Given the description of an element on the screen output the (x, y) to click on. 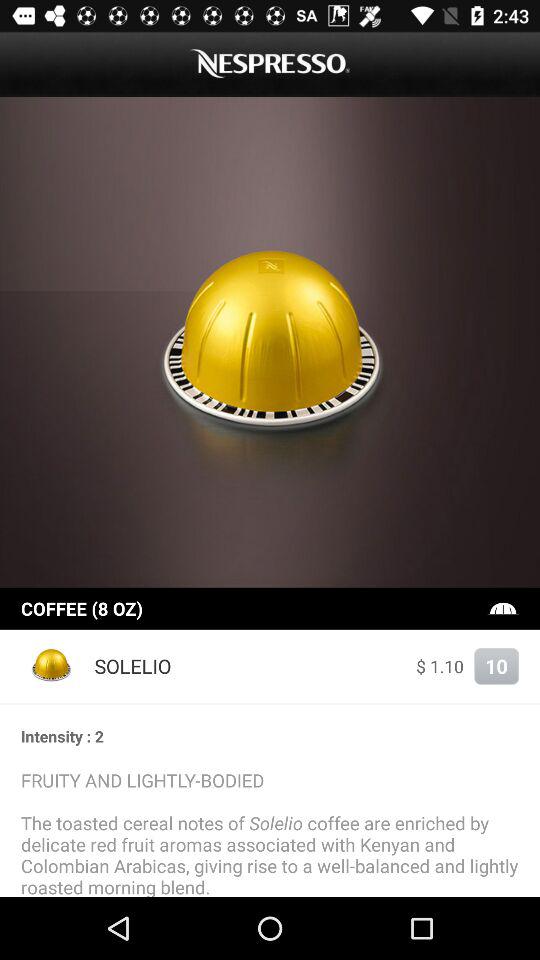
tap item next to the solelio item (52, 665)
